Given the description of an element on the screen output the (x, y) to click on. 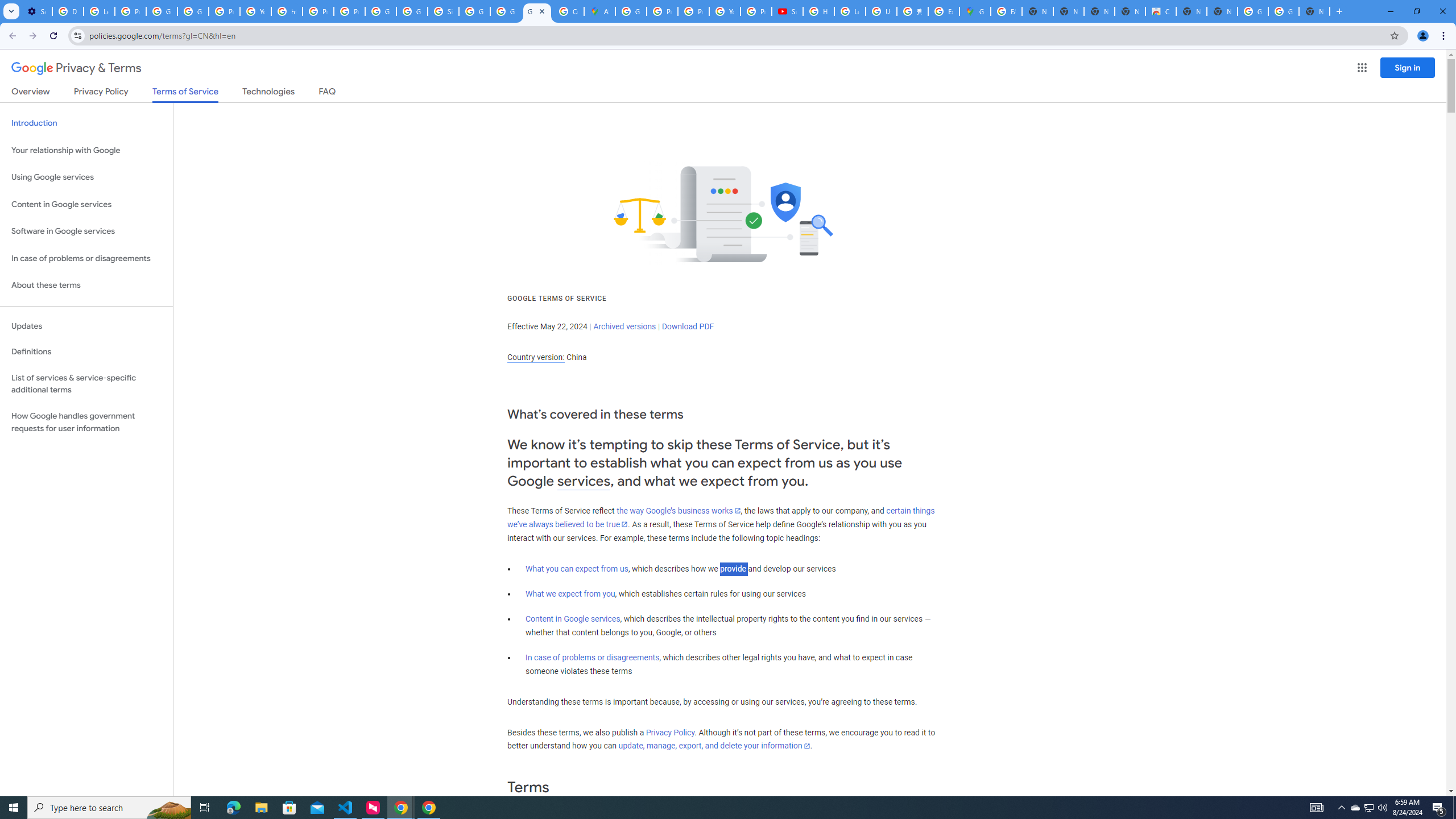
update, manage, export, and delete your information (714, 746)
In case of problems or disagreements (592, 657)
List of services & service-specific additional terms (86, 383)
Privacy & Terms (76, 68)
Google Maps (974, 11)
Create your Google Account (568, 11)
